Given the description of an element on the screen output the (x, y) to click on. 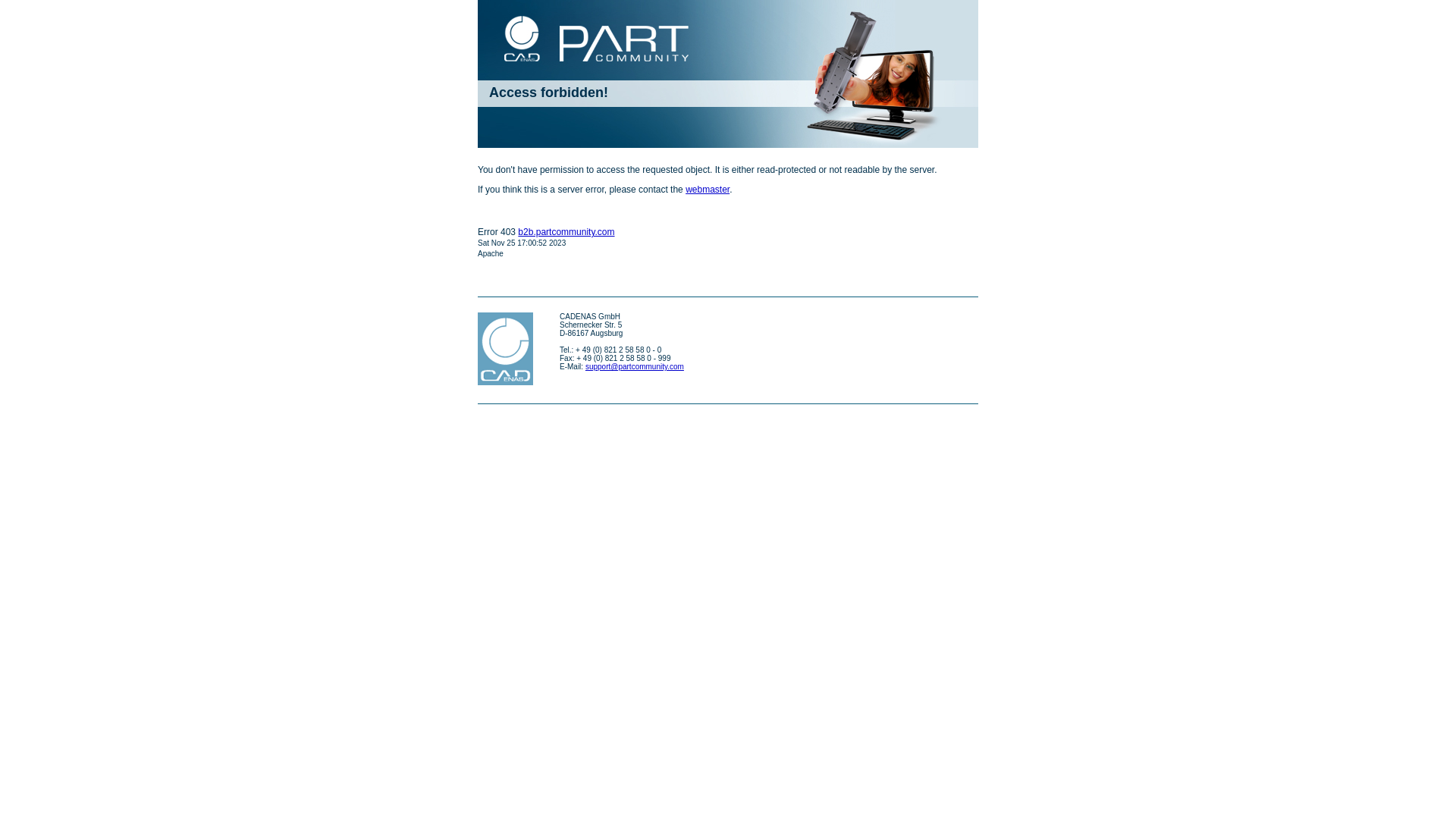
webmaster Element type: text (707, 189)
support@partcommunity.com Element type: text (634, 366)
b2b.partcommunity.com Element type: text (565, 231)
